Given the description of an element on the screen output the (x, y) to click on. 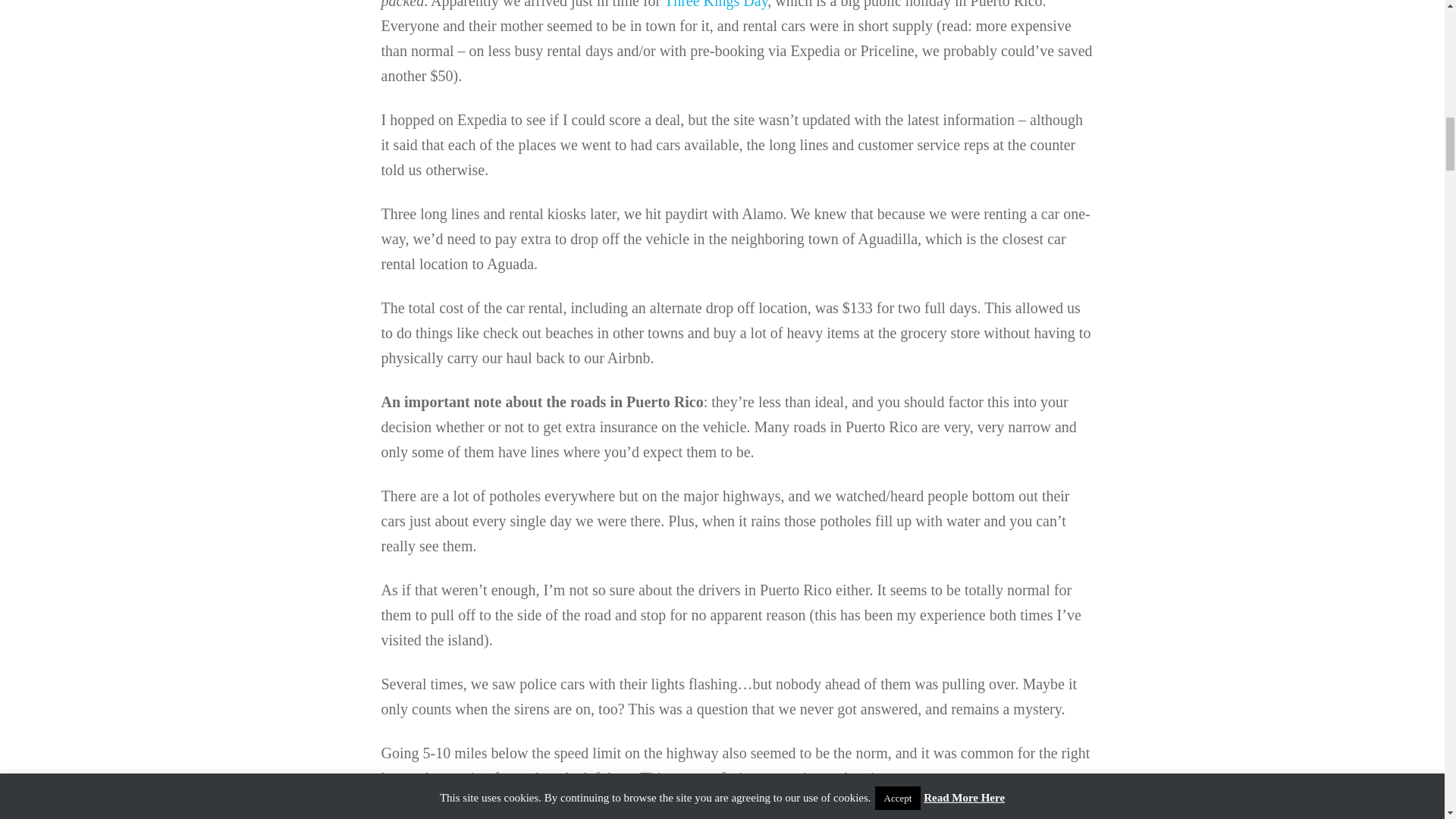
Three Kings Day (715, 4)
